Given the description of an element on the screen output the (x, y) to click on. 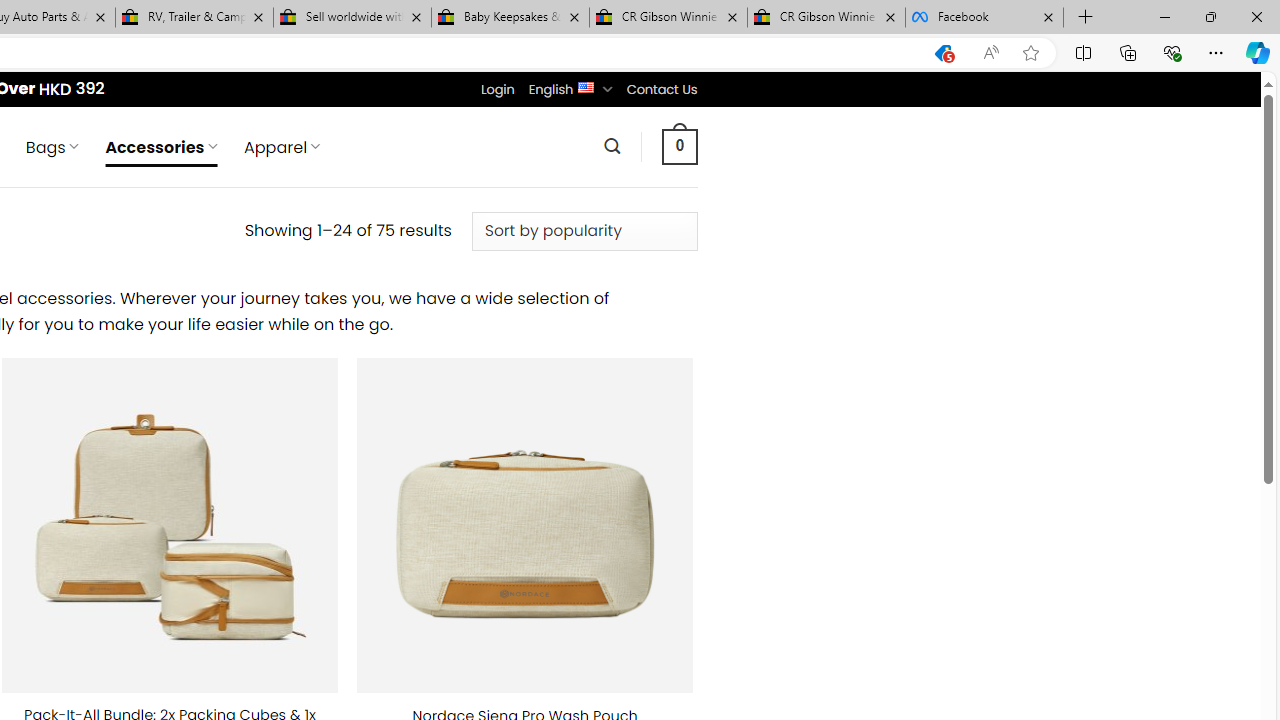
This site has coupons! Shopping in Microsoft Edge, 5 (943, 53)
English (586, 86)
